Given the description of an element on the screen output the (x, y) to click on. 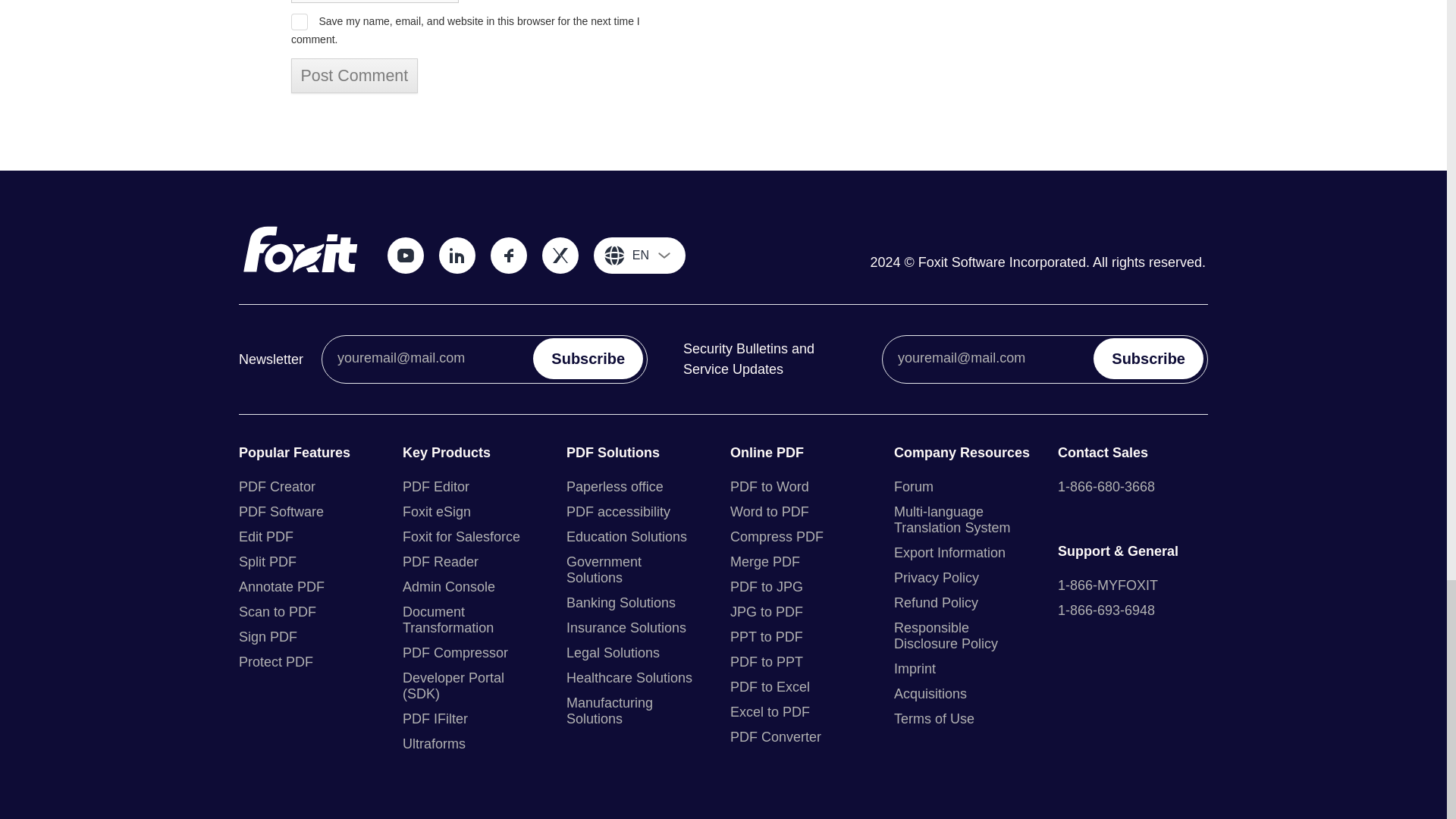
Post Comment (354, 75)
yes (299, 21)
